Given the description of an element on the screen output the (x, y) to click on. 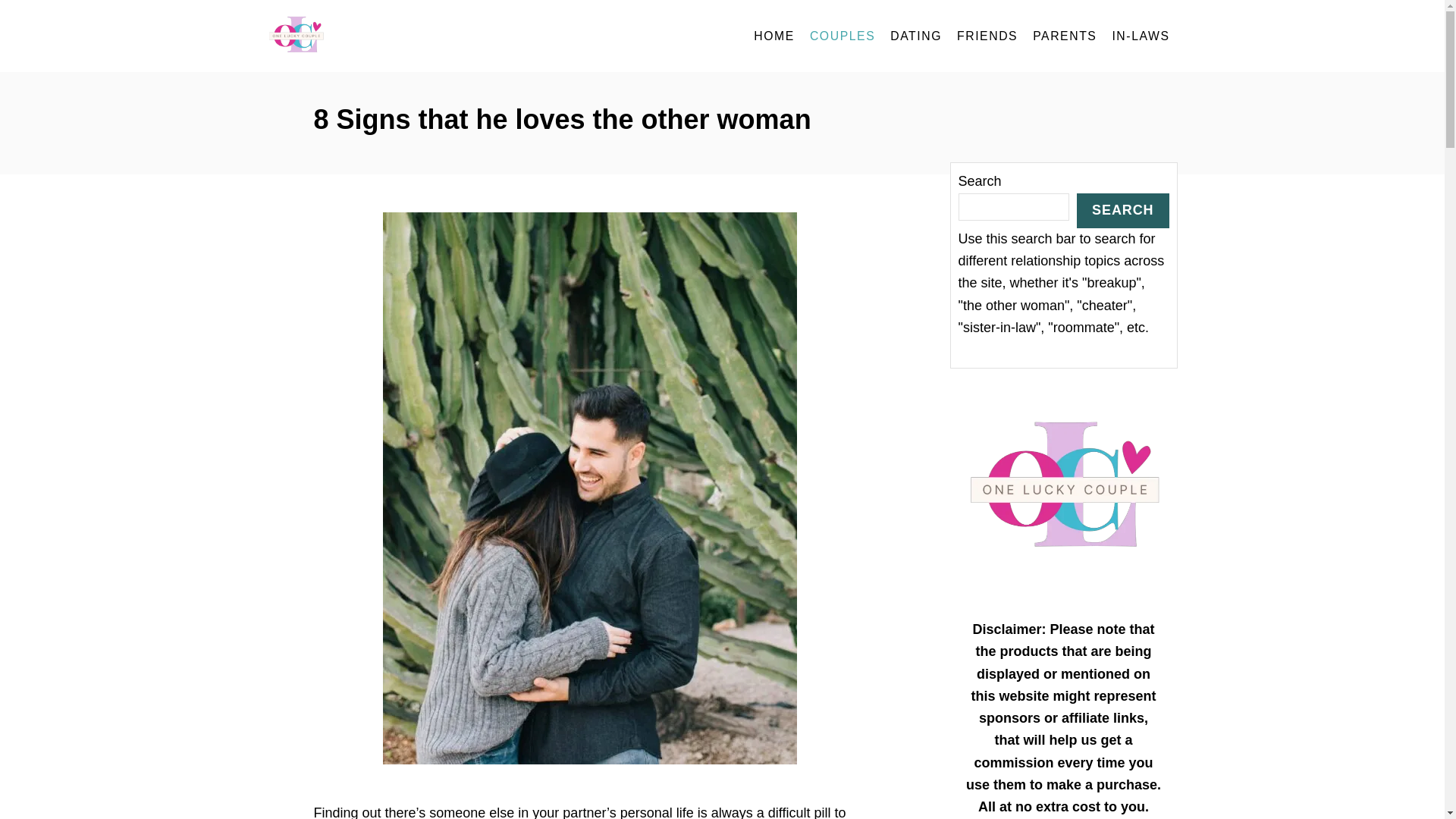
OLC (403, 36)
SEARCH (1123, 209)
IN-LAWS (1139, 36)
FRIENDS (987, 36)
PARENTS (1064, 36)
HOME (773, 36)
DATING (915, 36)
COUPLES (842, 36)
